Given the description of an element on the screen output the (x, y) to click on. 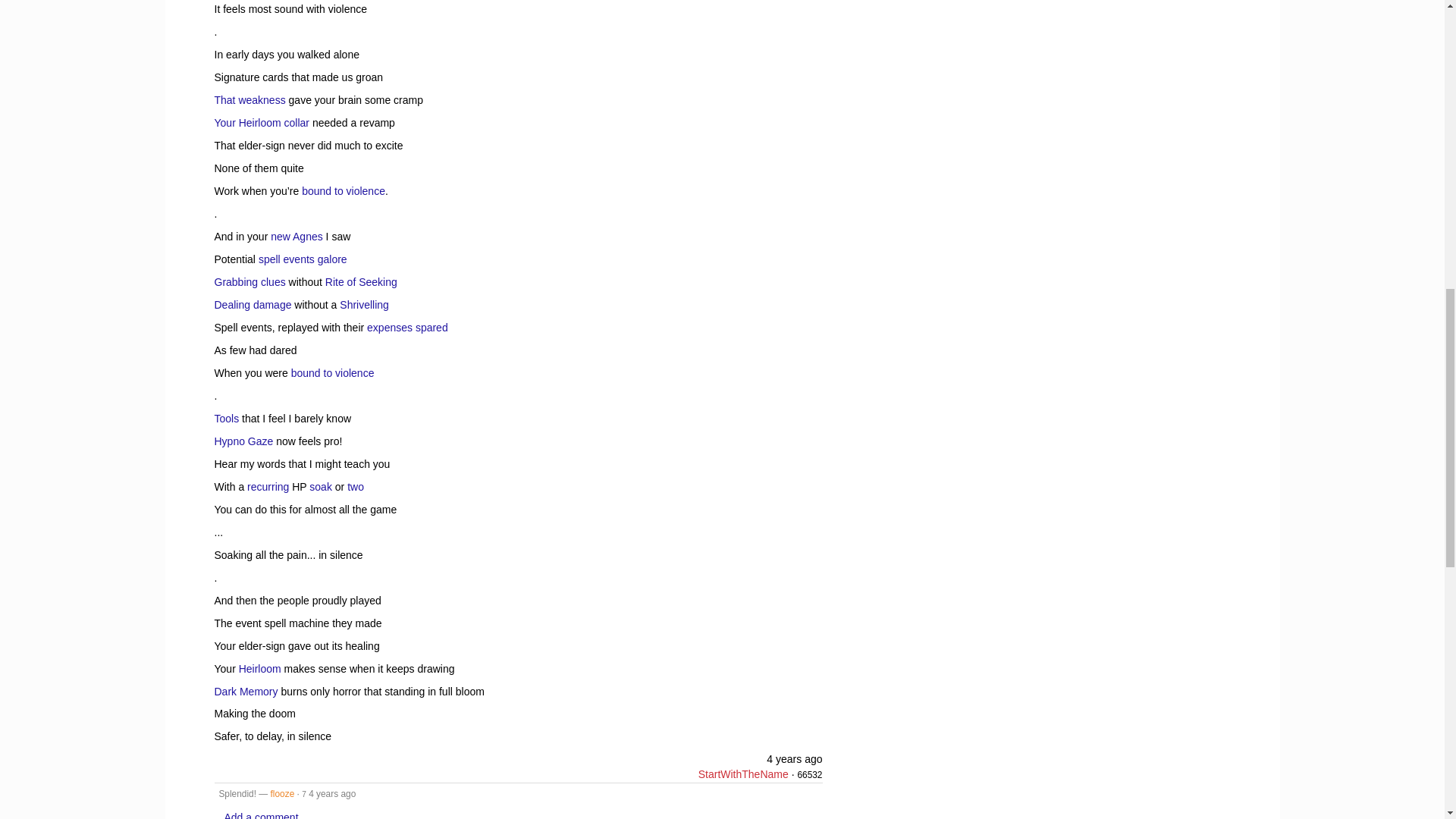
Sunday, December 27, 2020 8:30 PM (794, 758)
User Reputation (809, 774)
Monday, January 18, 2021 2:24 PM (331, 793)
